Given the description of an element on the screen output the (x, y) to click on. 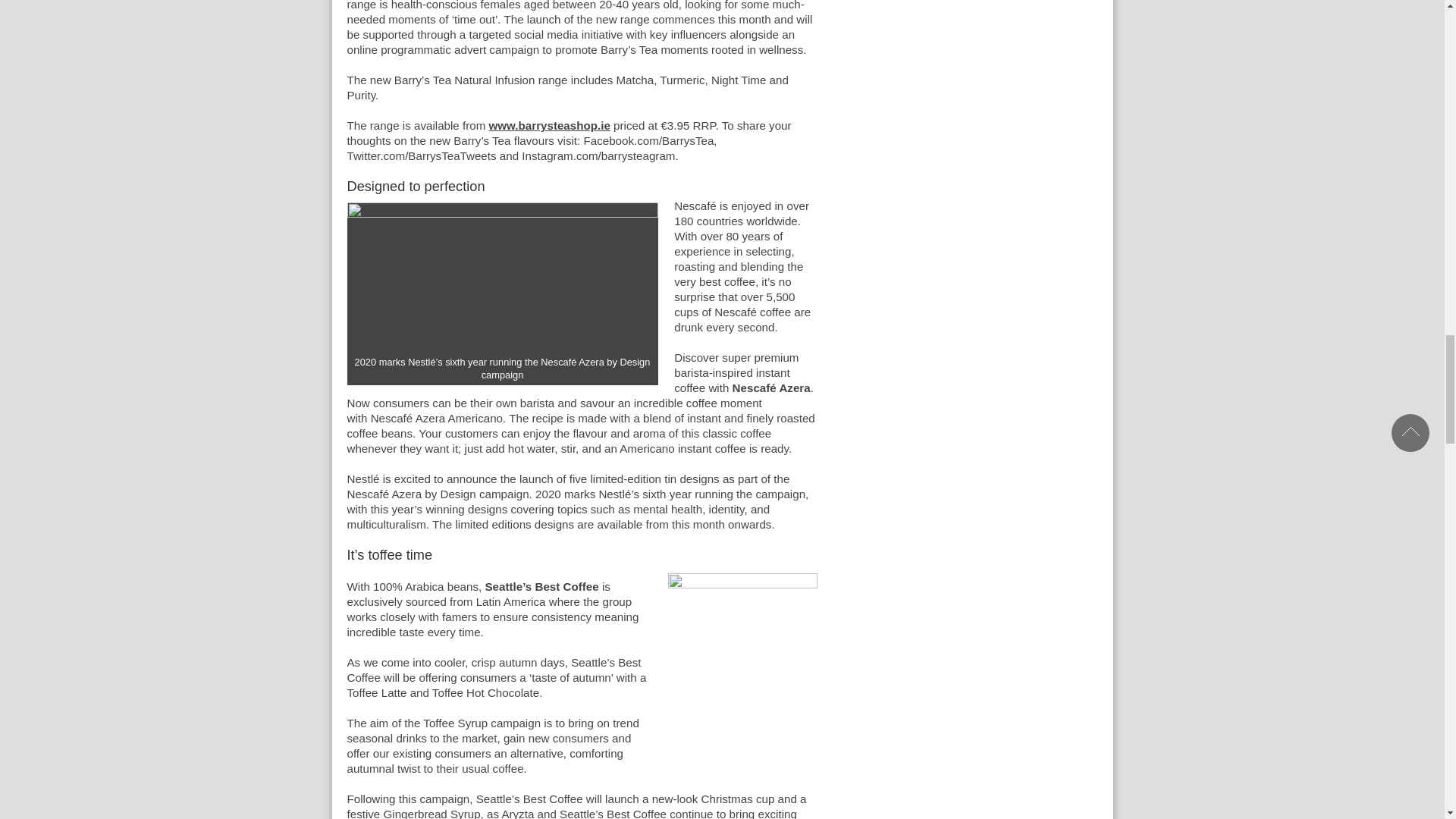
www.barrysteashop.ie (549, 124)
